Given the description of an element on the screen output the (x, y) to click on. 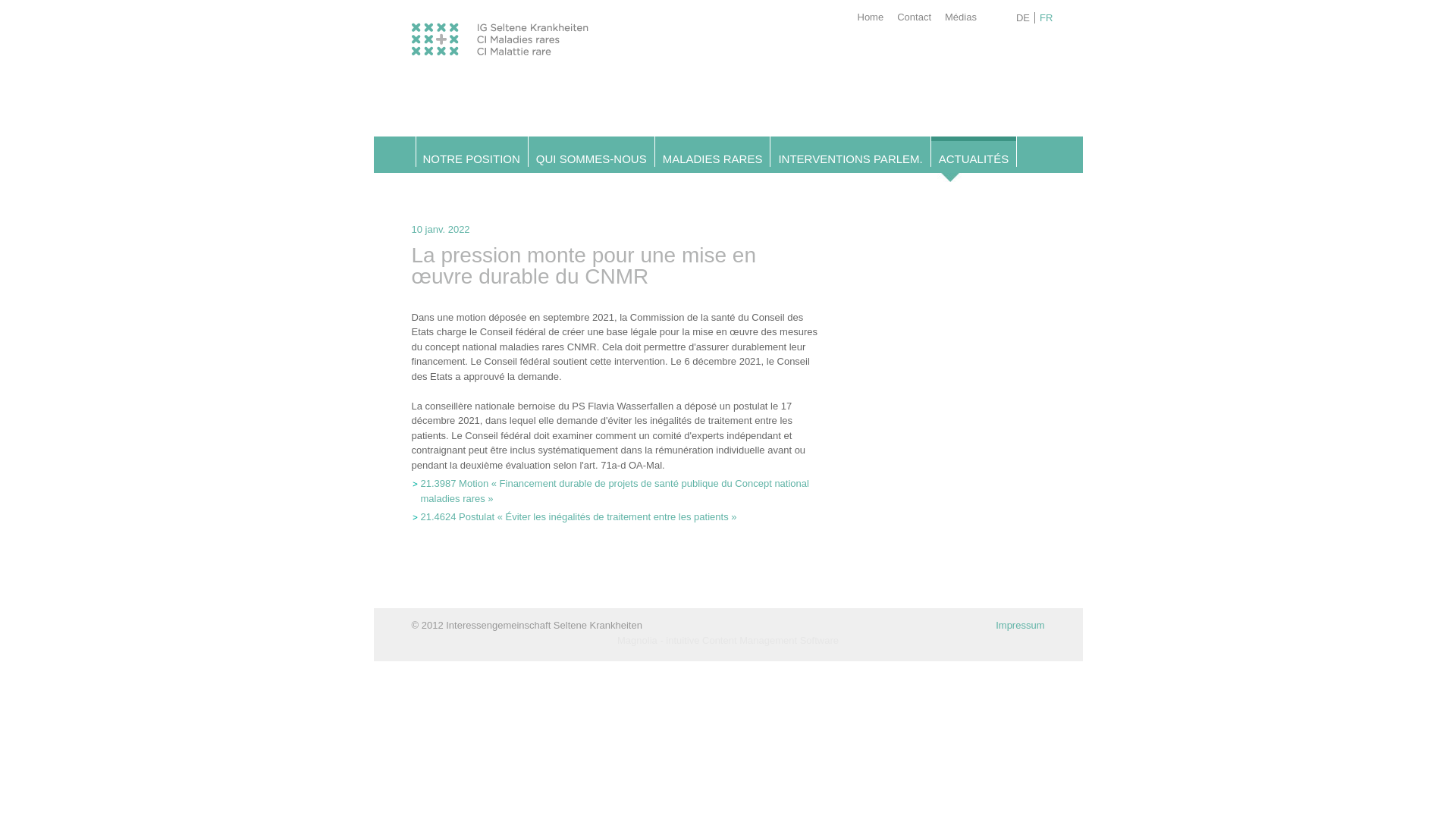
MALADIES RARES Element type: text (712, 159)
Contact Element type: text (914, 14)
Homepage Element type: hover (499, 51)
FR Element type: text (1046, 17)
INTERVENTIONS PARLEM. Element type: text (849, 159)
Impressum Element type: text (1019, 624)
Magnolia - intuitive Content Management Software Element type: text (727, 639)
NOTRE POSITION Element type: text (471, 159)
Home Element type: text (869, 14)
DE Element type: text (1024, 17)
QUI SOMMES-NOUS Element type: text (591, 159)
